Given the description of an element on the screen output the (x, y) to click on. 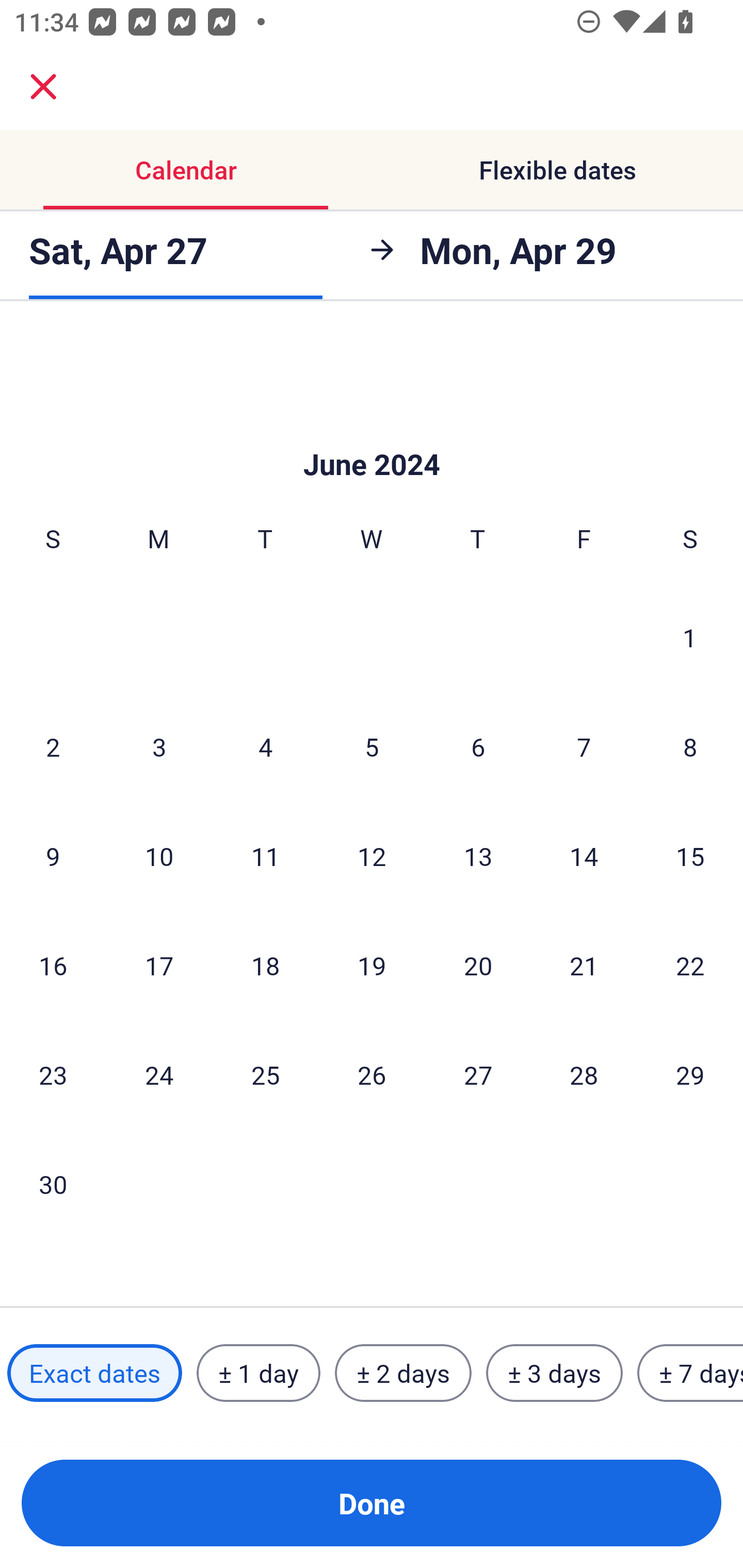
close. (43, 86)
Flexible dates (557, 170)
Skip to Done (371, 433)
1 Saturday, June 1, 2024 (689, 636)
2 Sunday, June 2, 2024 (53, 746)
3 Monday, June 3, 2024 (159, 746)
4 Tuesday, June 4, 2024 (265, 746)
5 Wednesday, June 5, 2024 (371, 746)
6 Thursday, June 6, 2024 (477, 746)
7 Friday, June 7, 2024 (584, 746)
8 Saturday, June 8, 2024 (690, 746)
9 Sunday, June 9, 2024 (53, 855)
10 Monday, June 10, 2024 (159, 855)
11 Tuesday, June 11, 2024 (265, 855)
12 Wednesday, June 12, 2024 (371, 855)
13 Thursday, June 13, 2024 (477, 855)
14 Friday, June 14, 2024 (584, 855)
15 Saturday, June 15, 2024 (690, 855)
16 Sunday, June 16, 2024 (53, 964)
17 Monday, June 17, 2024 (159, 964)
18 Tuesday, June 18, 2024 (265, 964)
19 Wednesday, June 19, 2024 (371, 964)
20 Thursday, June 20, 2024 (477, 964)
21 Friday, June 21, 2024 (584, 964)
22 Saturday, June 22, 2024 (690, 964)
23 Sunday, June 23, 2024 (53, 1074)
24 Monday, June 24, 2024 (159, 1074)
25 Tuesday, June 25, 2024 (265, 1074)
26 Wednesday, June 26, 2024 (371, 1074)
27 Thursday, June 27, 2024 (477, 1074)
28 Friday, June 28, 2024 (584, 1074)
29 Saturday, June 29, 2024 (690, 1074)
30 Sunday, June 30, 2024 (53, 1183)
Exact dates (94, 1372)
± 1 day (258, 1372)
± 2 days (403, 1372)
± 3 days (553, 1372)
± 7 days (690, 1372)
Done (371, 1502)
